Given the description of an element on the screen output the (x, y) to click on. 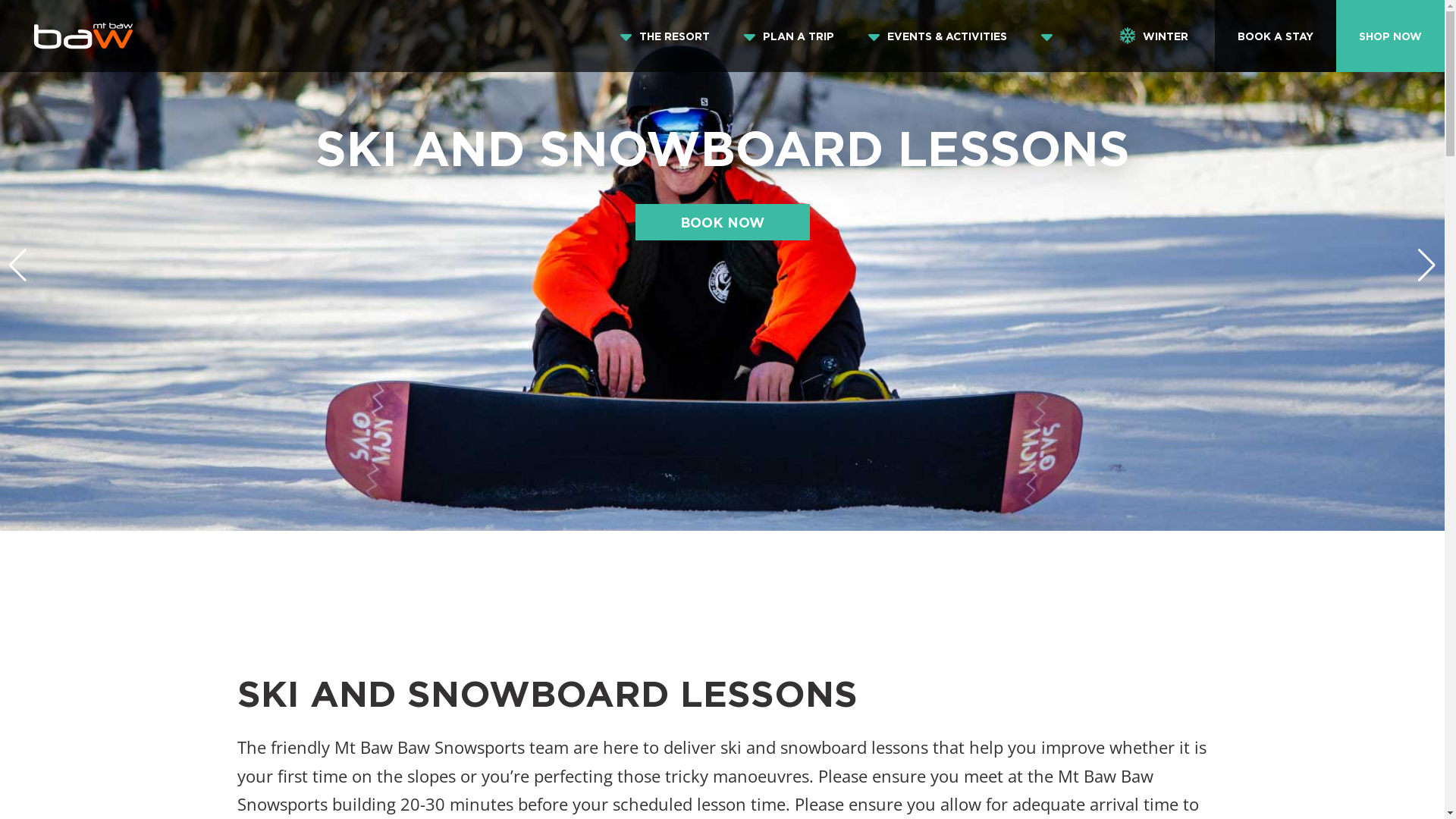
WINTER Element type: text (1153, 36)
PLAN A TRIP Element type: text (798, 35)
BOOK A STAY Element type: text (1275, 36)
THE RESORT Element type: text (674, 35)
BOOK NOW Element type: text (722, 221)
EVENTS & ACTIVITIES Element type: text (946, 35)
SHOP NOW Element type: text (1390, 36)
